Given the description of an element on the screen output the (x, y) to click on. 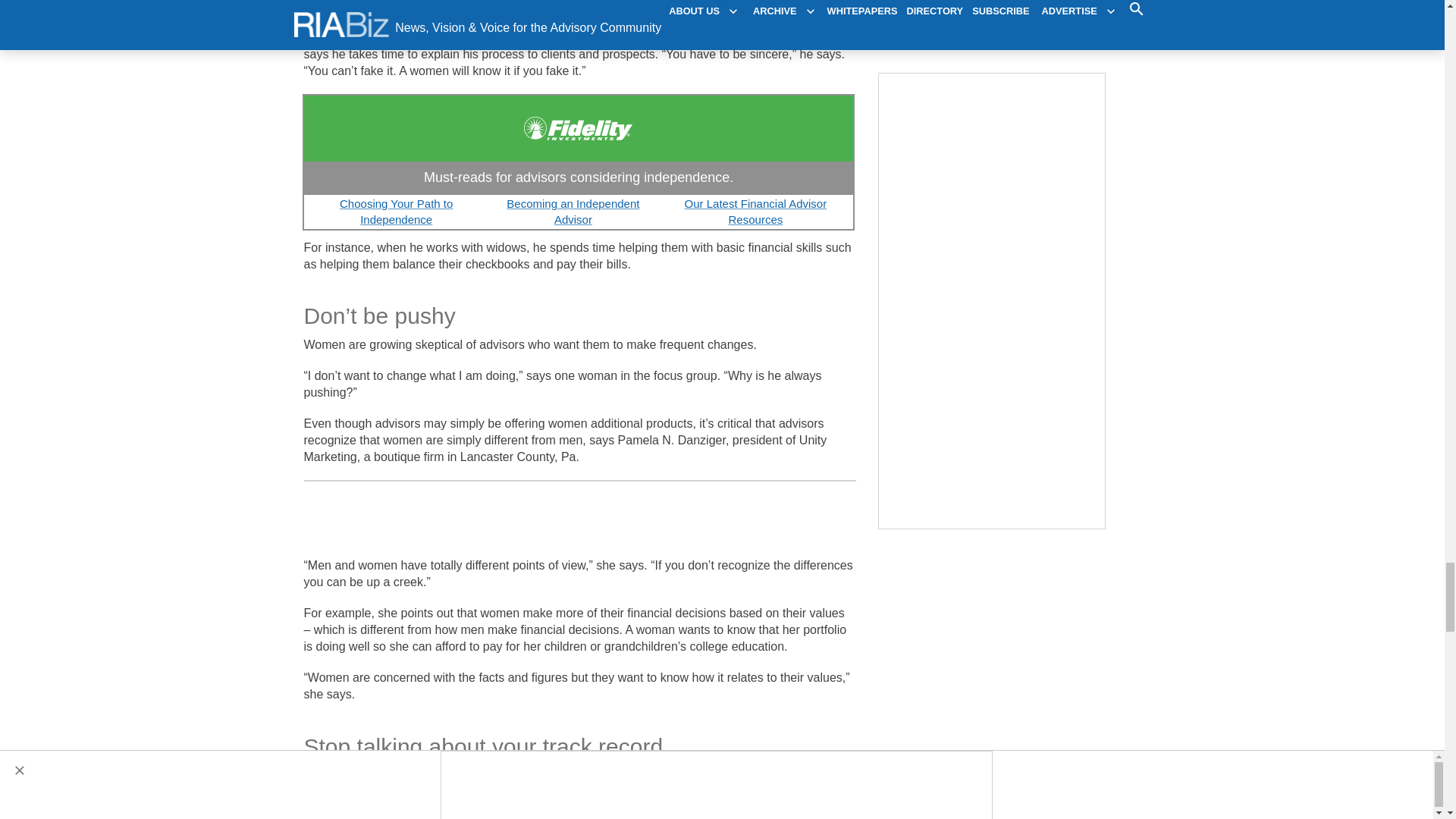
3rd party ad content (992, 7)
